Given the description of an element on the screen output the (x, y) to click on. 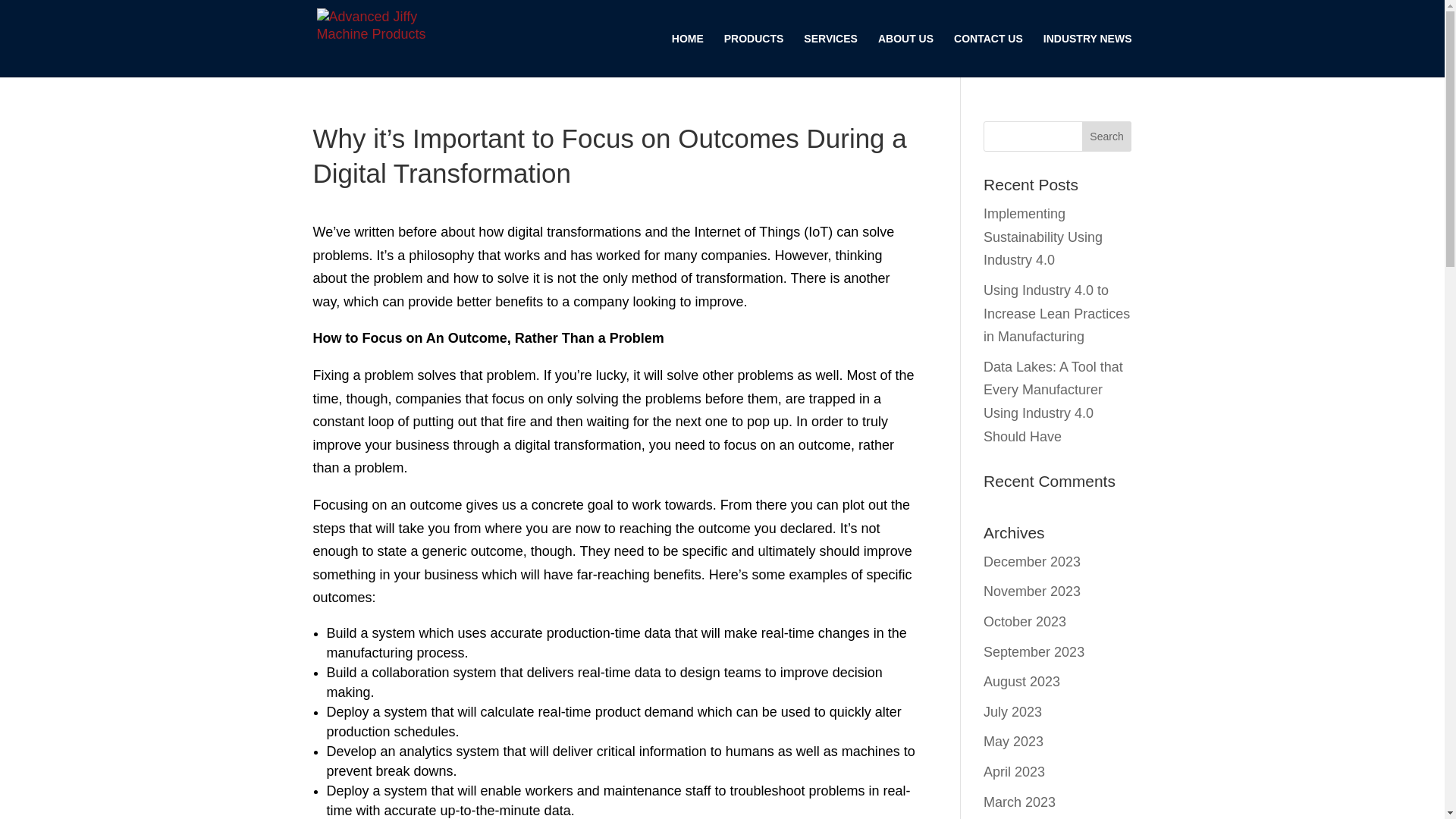
March 2023 (1019, 801)
Search (1106, 136)
INDUSTRY NEWS (1087, 54)
November 2023 (1032, 590)
July 2023 (1013, 711)
Search (1106, 136)
Implementing Sustainability Using Industry 4.0 (1043, 236)
PRODUCTS (753, 54)
ABOUT US (905, 54)
